Given the description of an element on the screen output the (x, y) to click on. 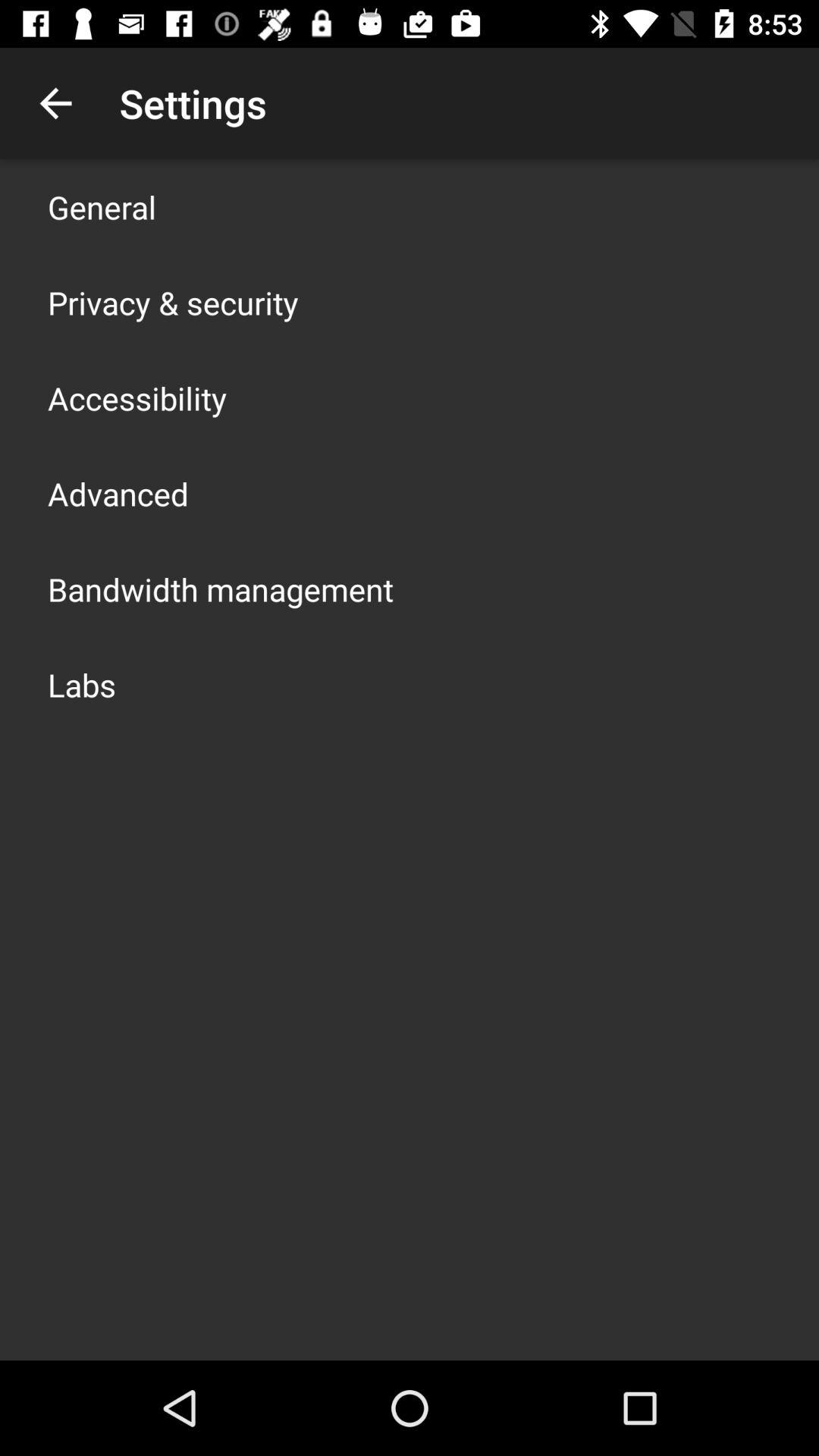
choose the privacy & security item (172, 302)
